Given the description of an element on the screen output the (x, y) to click on. 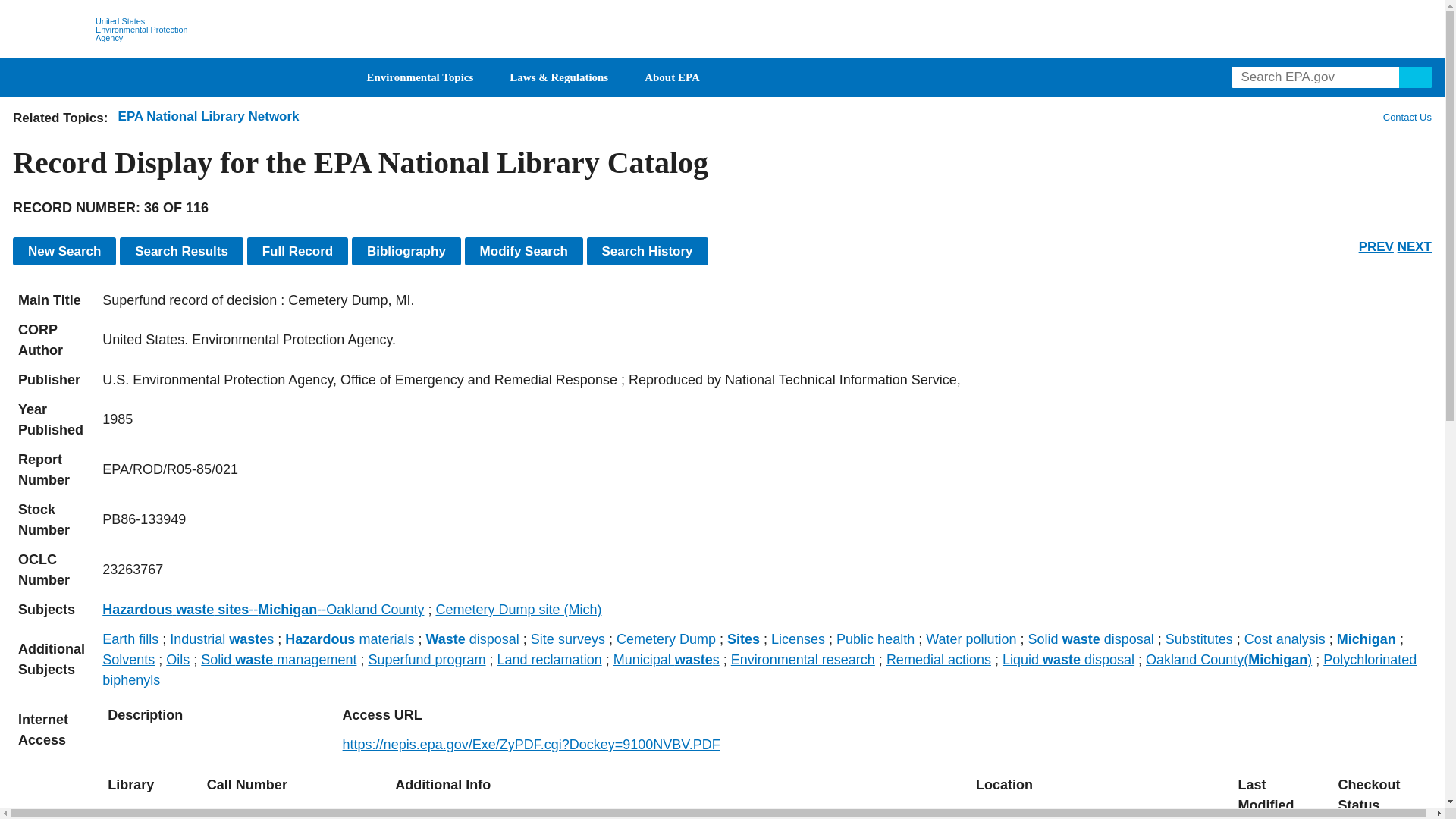
New Search (64, 251)
Create a New Search (64, 251)
Show results in bibliographic format (406, 251)
EPA National Library Network (208, 115)
Jump to main content (723, 9)
Modify the existing search criteria (523, 251)
Solvents (127, 659)
Search Results (181, 251)
Search History (646, 251)
